Given the description of an element on the screen output the (x, y) to click on. 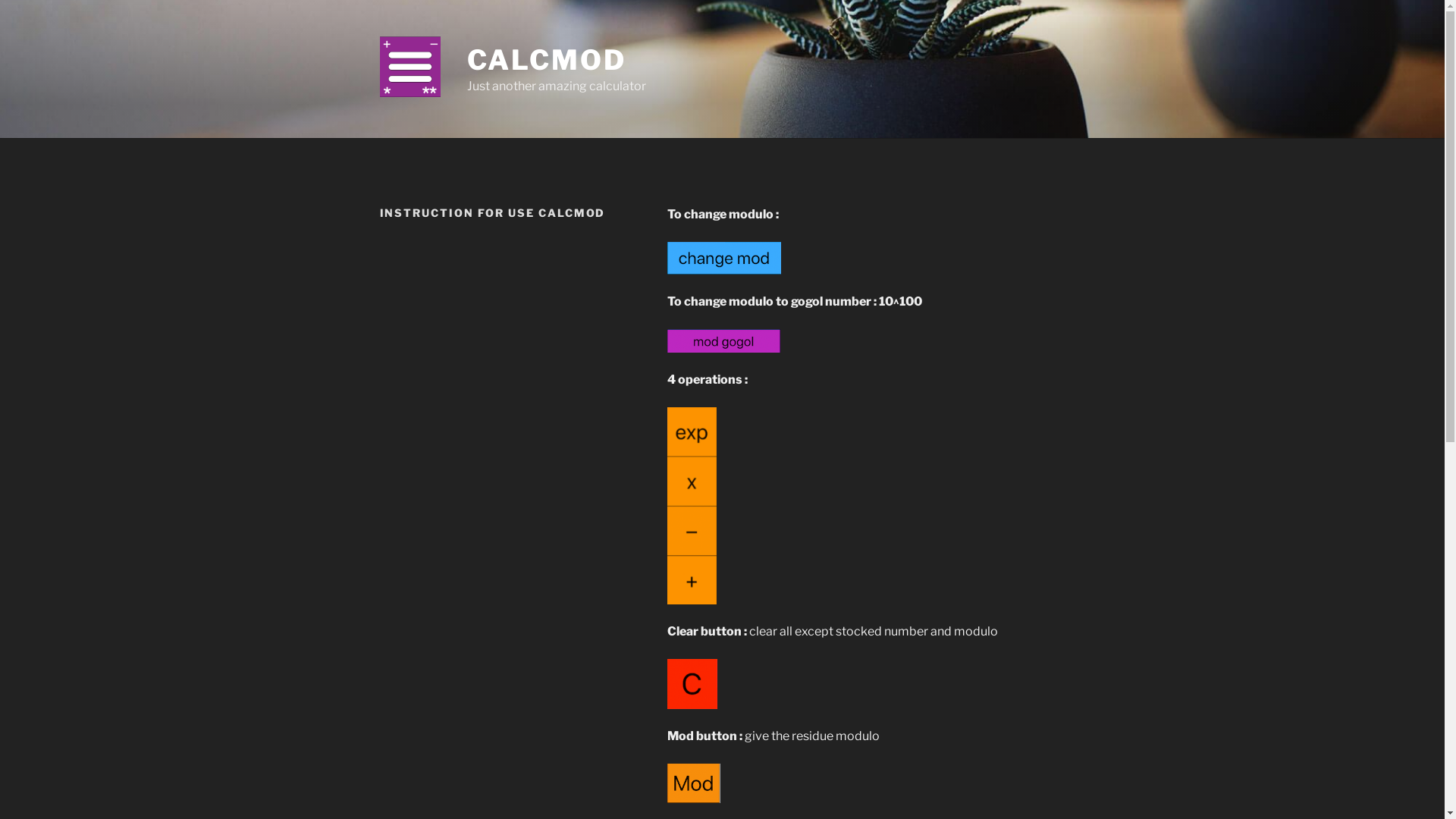
CALCMOD Element type: text (546, 59)
